Given the description of an element on the screen output the (x, y) to click on. 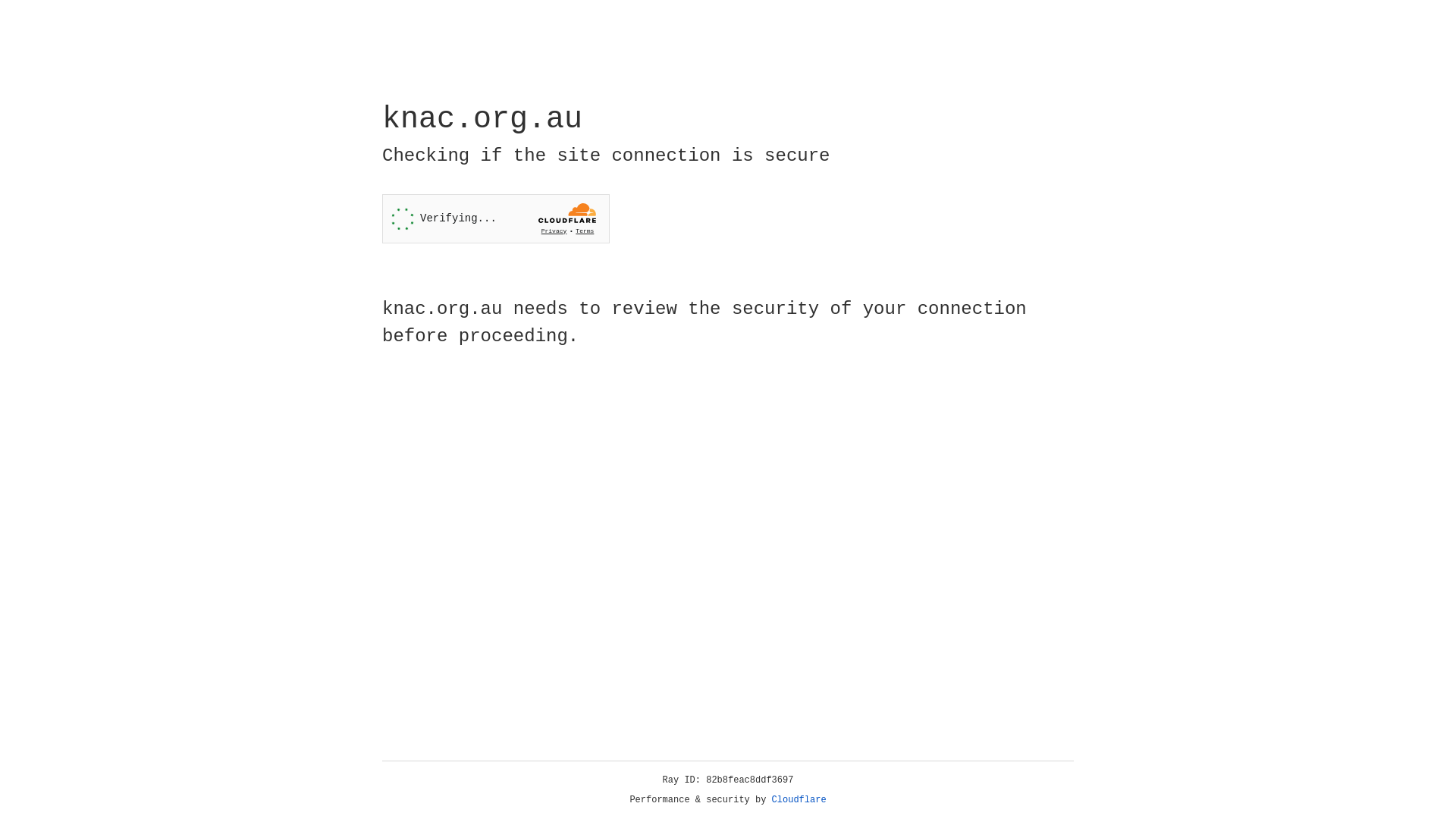
Widget containing a Cloudflare security challenge Element type: hover (495, 218)
Cloudflare Element type: text (798, 799)
